Given the description of an element on the screen output the (x, y) to click on. 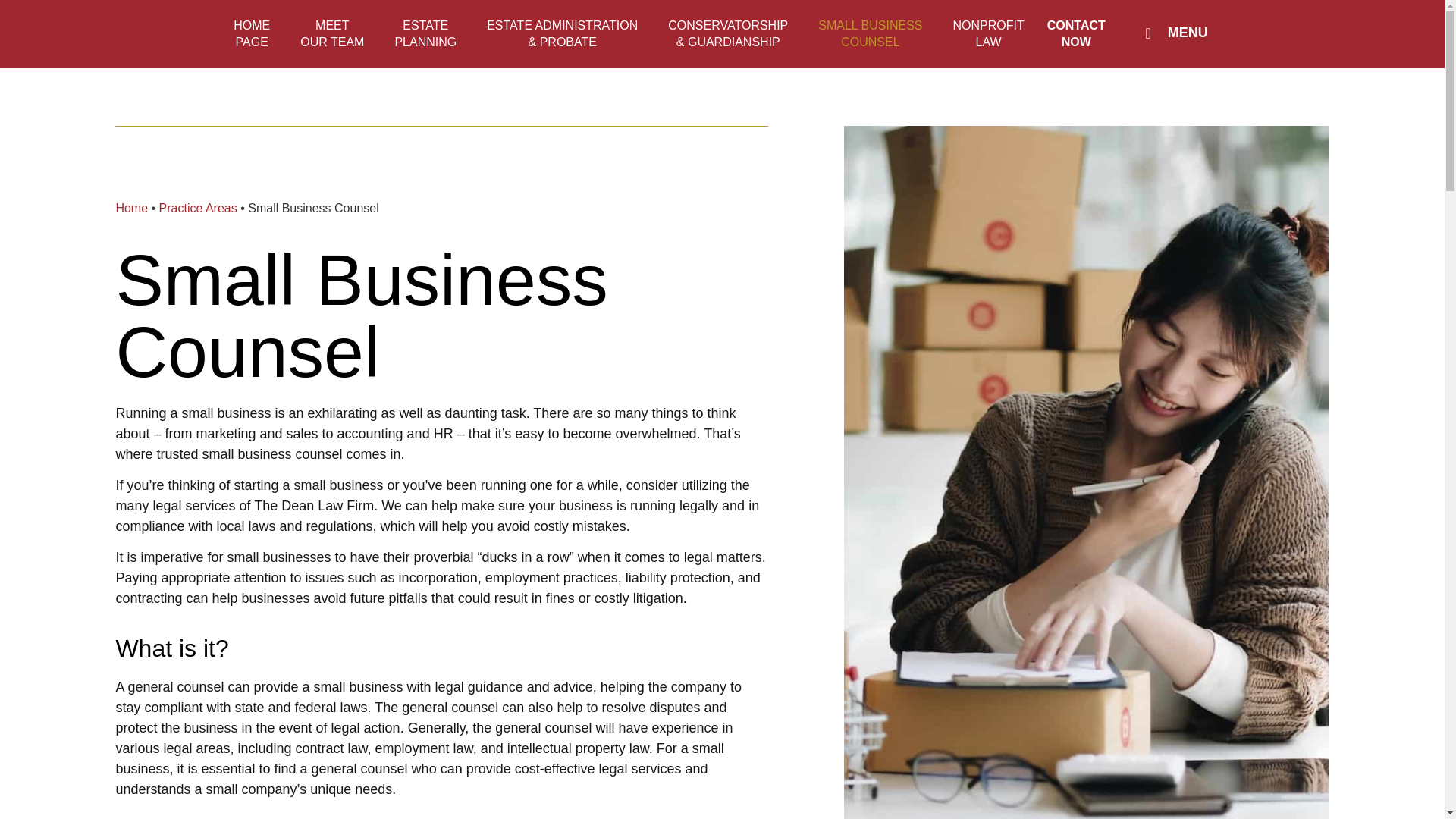
MENU (251, 34)
Practice Areas (425, 34)
Home (1173, 32)
